Given the description of an element on the screen output the (x, y) to click on. 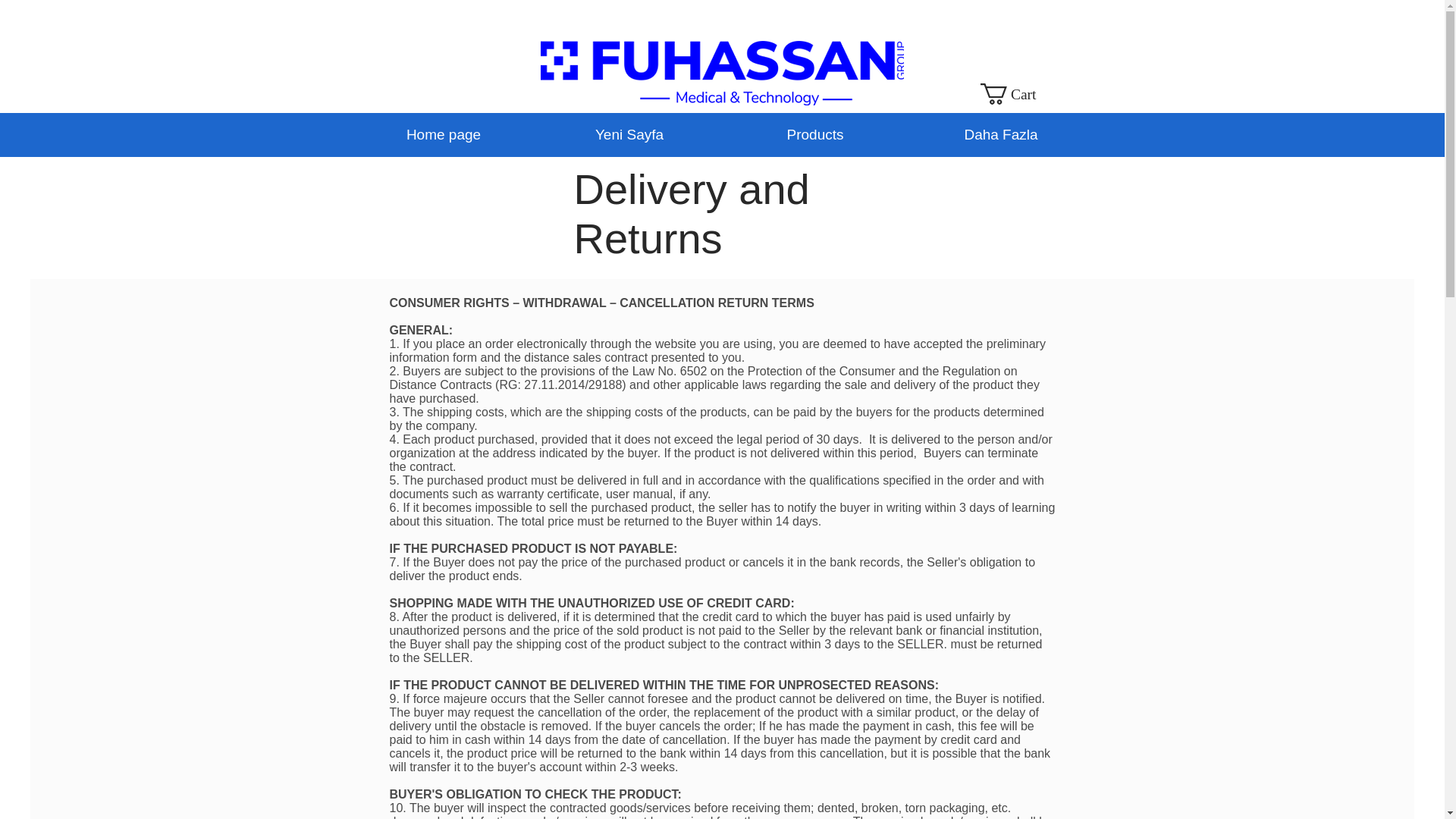
Cart (1024, 93)
Home page (442, 134)
fuhassan-yeni-logo-templateLogo-1.png (721, 72)
Products (814, 134)
Cart (1024, 93)
Yeni Sayfa (629, 134)
